Given the description of an element on the screen output the (x, y) to click on. 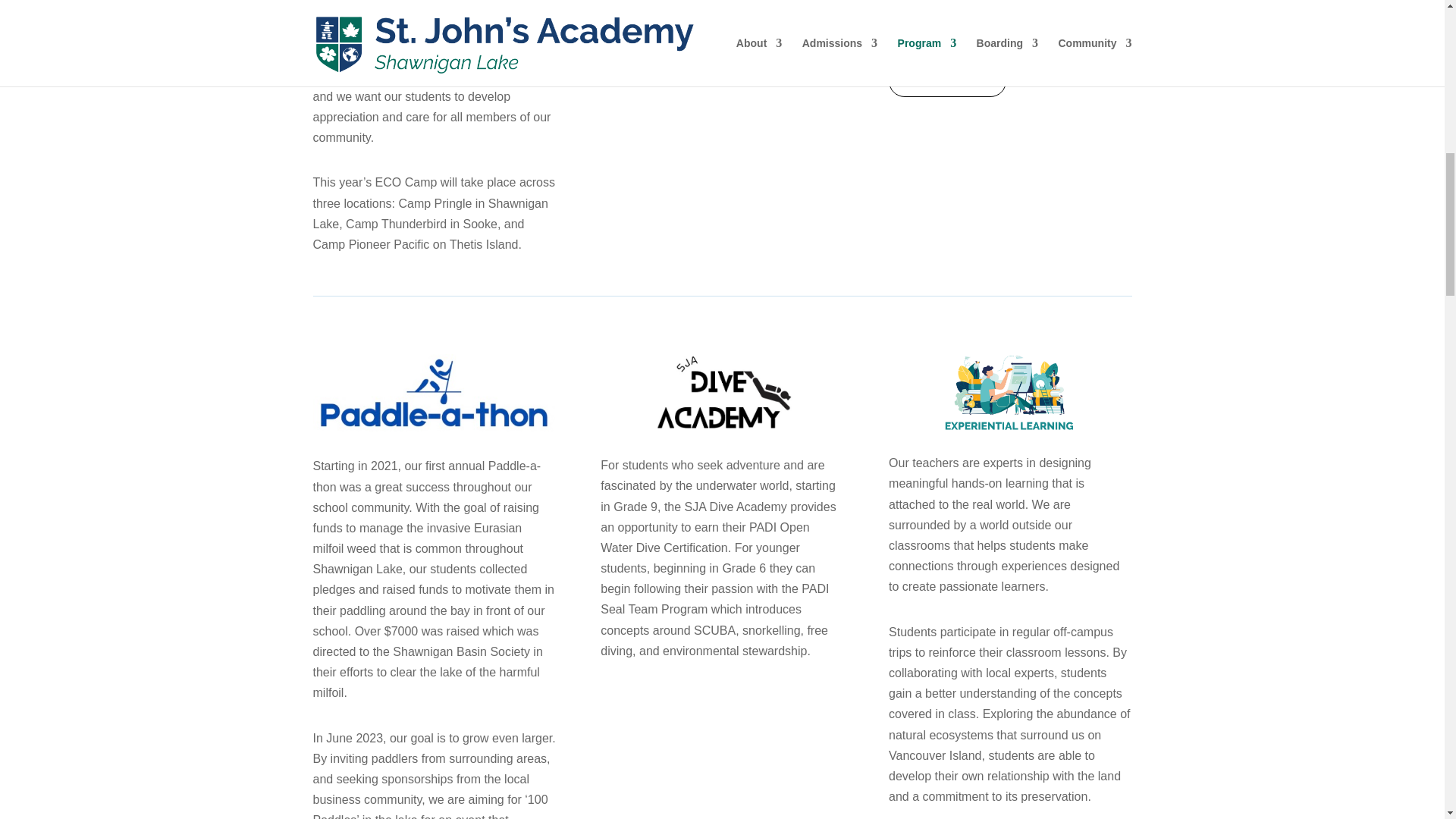
dive (721, 392)
Learning (1009, 391)
paddle (433, 393)
